Given the description of an element on the screen output the (x, y) to click on. 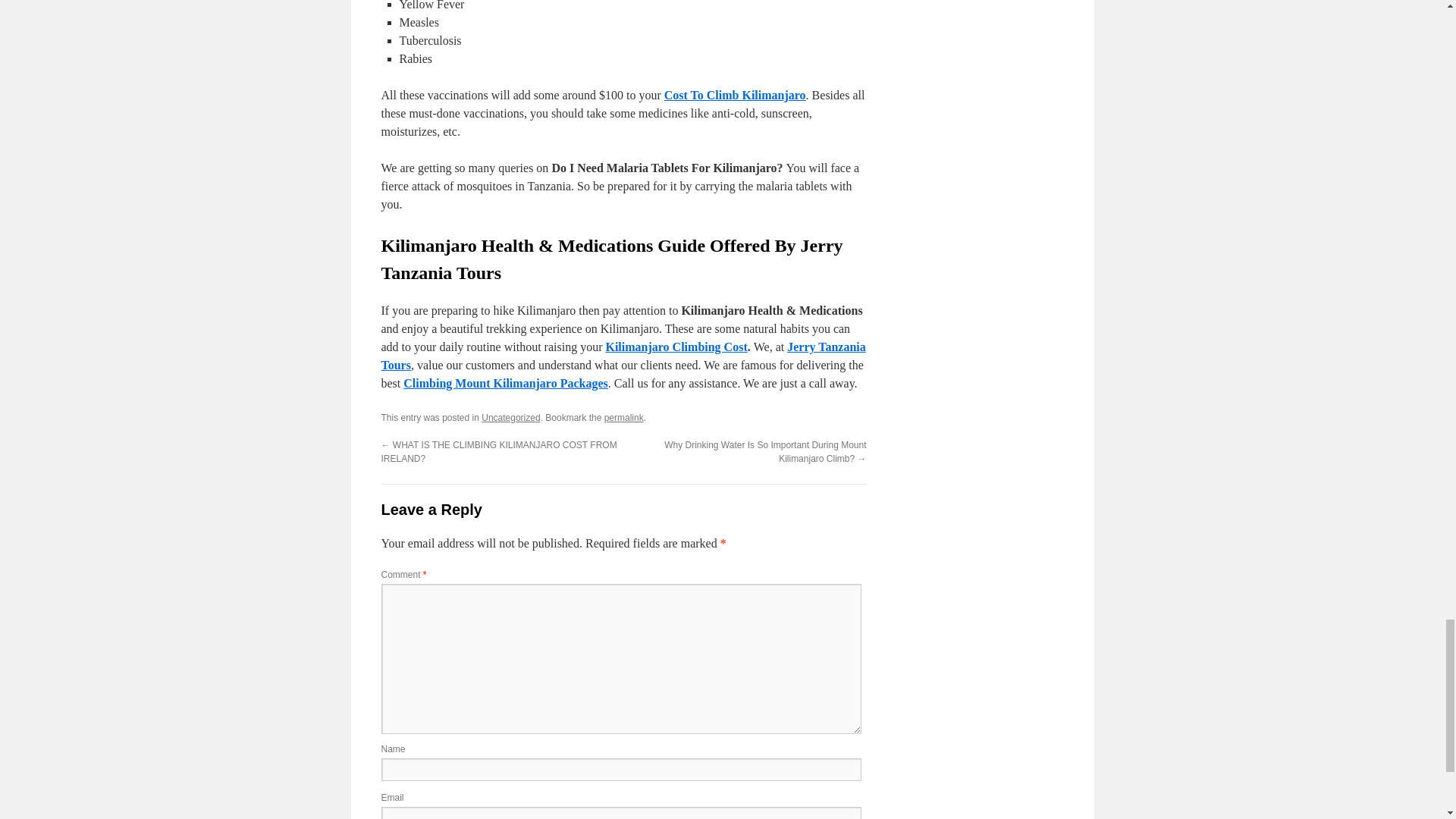
Jerry Tanzania Tours (622, 355)
Climbing Mount Kilimanjaro Packages (505, 382)
Kilimanjaro Climbing Cost (675, 346)
Cost To Climb Kilimanjaro (734, 94)
Uncategorized (510, 417)
permalink (623, 417)
